Given the description of an element on the screen output the (x, y) to click on. 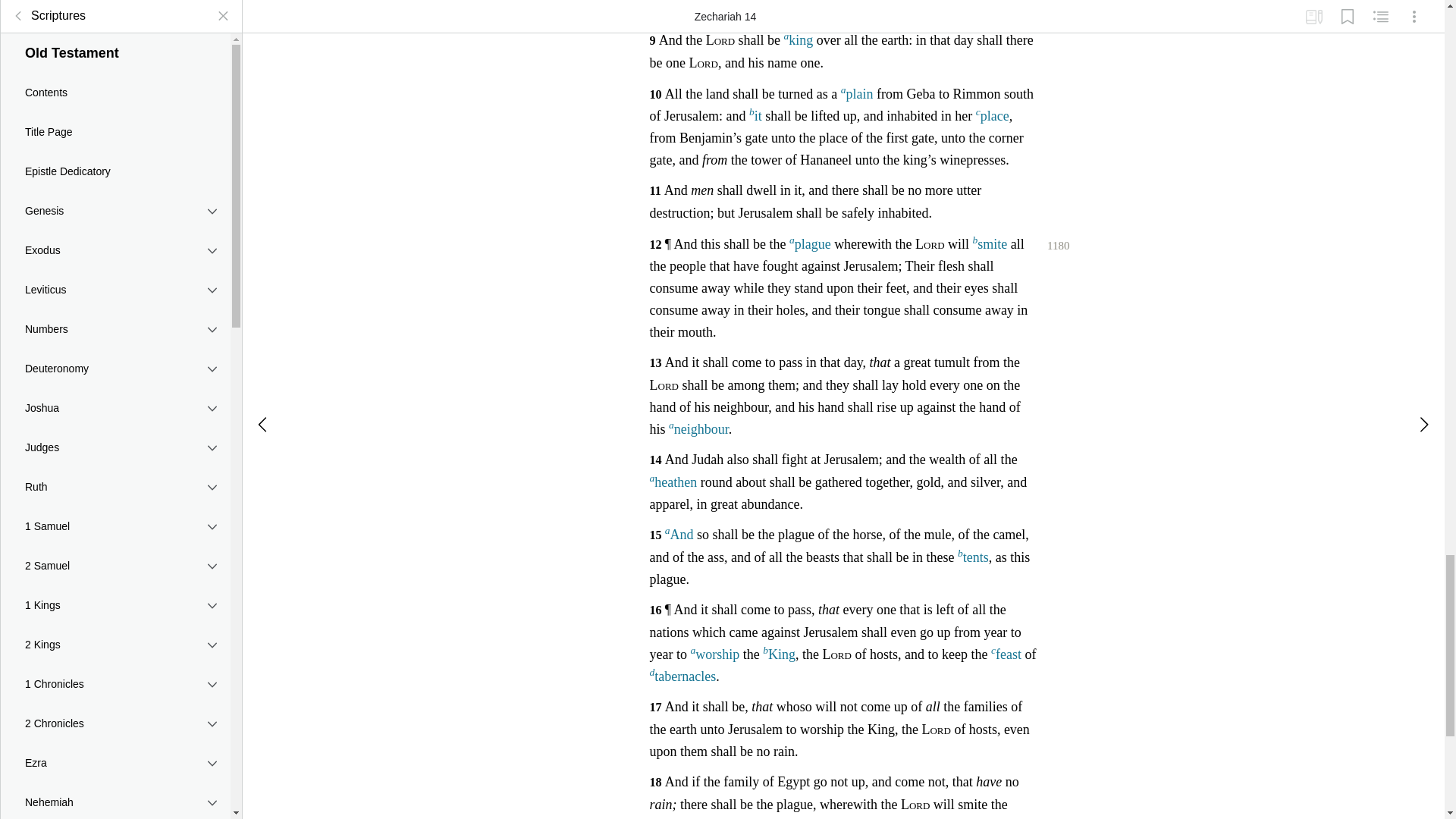
Jeremiah (115, 329)
Nahum (115, 723)
Lamentations (115, 369)
Hosea (115, 486)
Proverbs (115, 171)
Ezekiel (115, 408)
Isaiah (115, 290)
Nehemiah (115, 17)
Micah (115, 684)
Jonah (115, 645)
Job (115, 93)
Psalms (115, 132)
Ecclesiastes (115, 210)
Obadiah (115, 605)
Amos (115, 566)
